Given the description of an element on the screen output the (x, y) to click on. 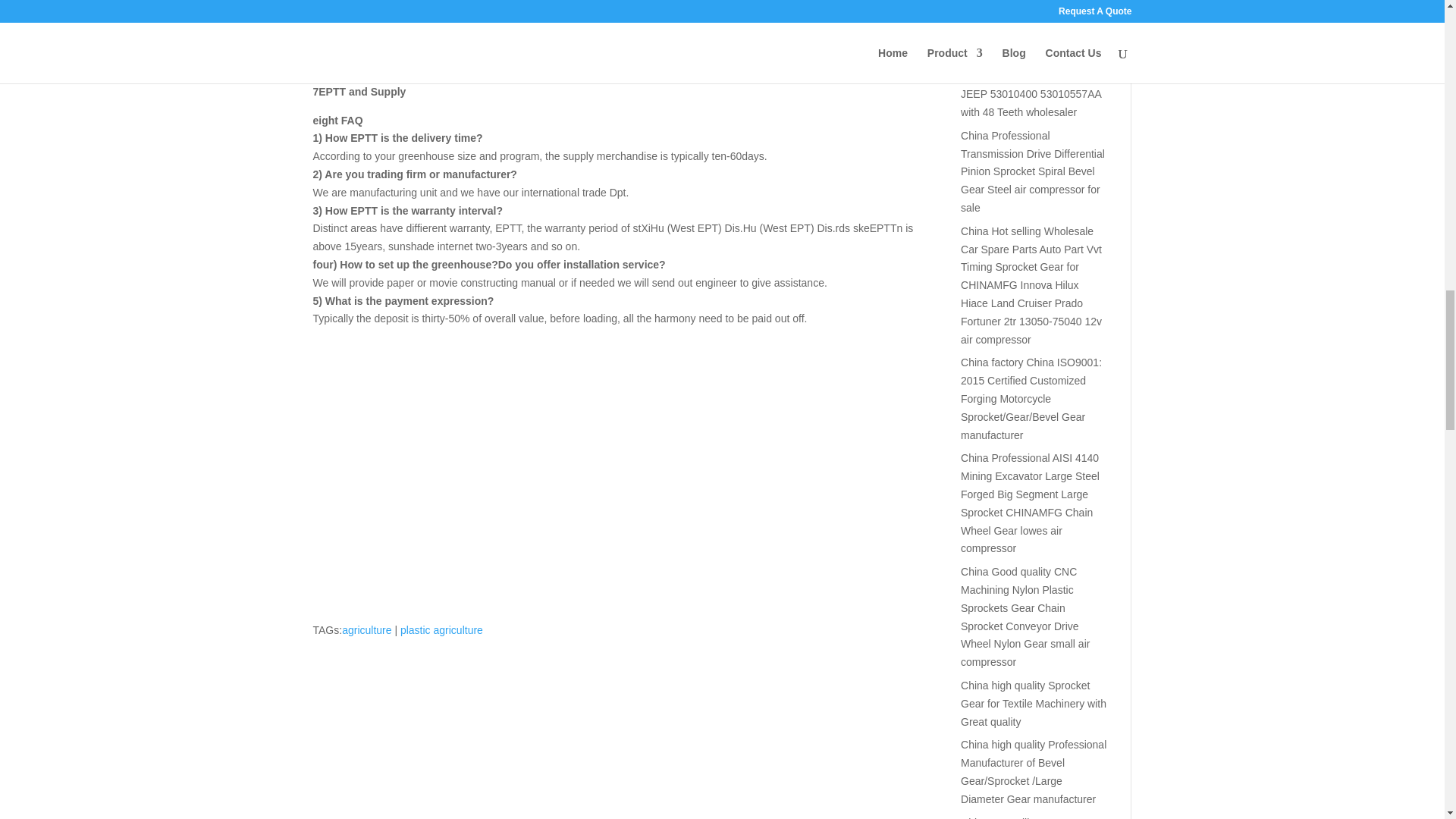
plastic agriculture (441, 630)
agriculture (366, 630)
